Given the description of an element on the screen output the (x, y) to click on. 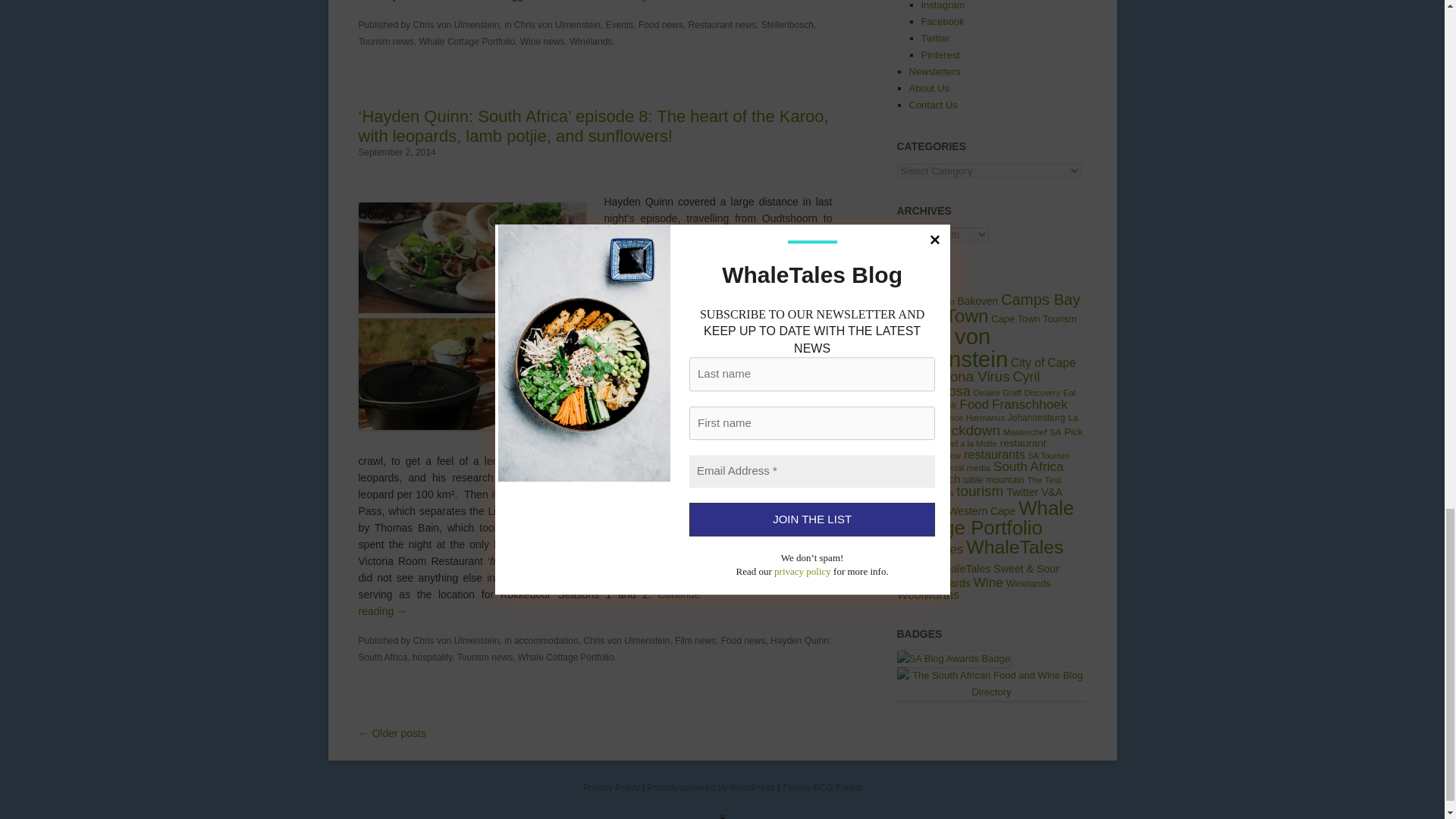
View all posts by Chris von Ulmenstein (456, 24)
